Given the description of an element on the screen output the (x, y) to click on. 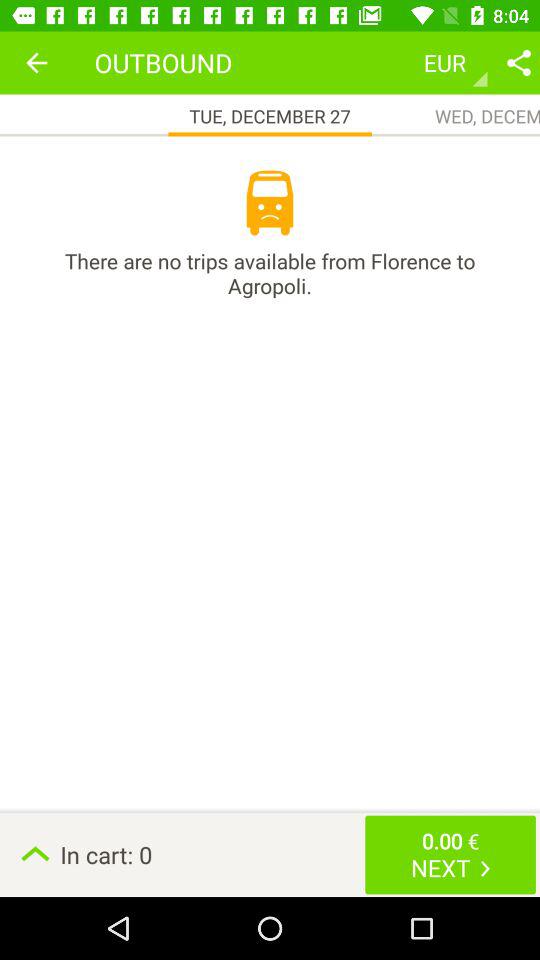
scroll to there are no (269, 273)
